Given the description of an element on the screen output the (x, y) to click on. 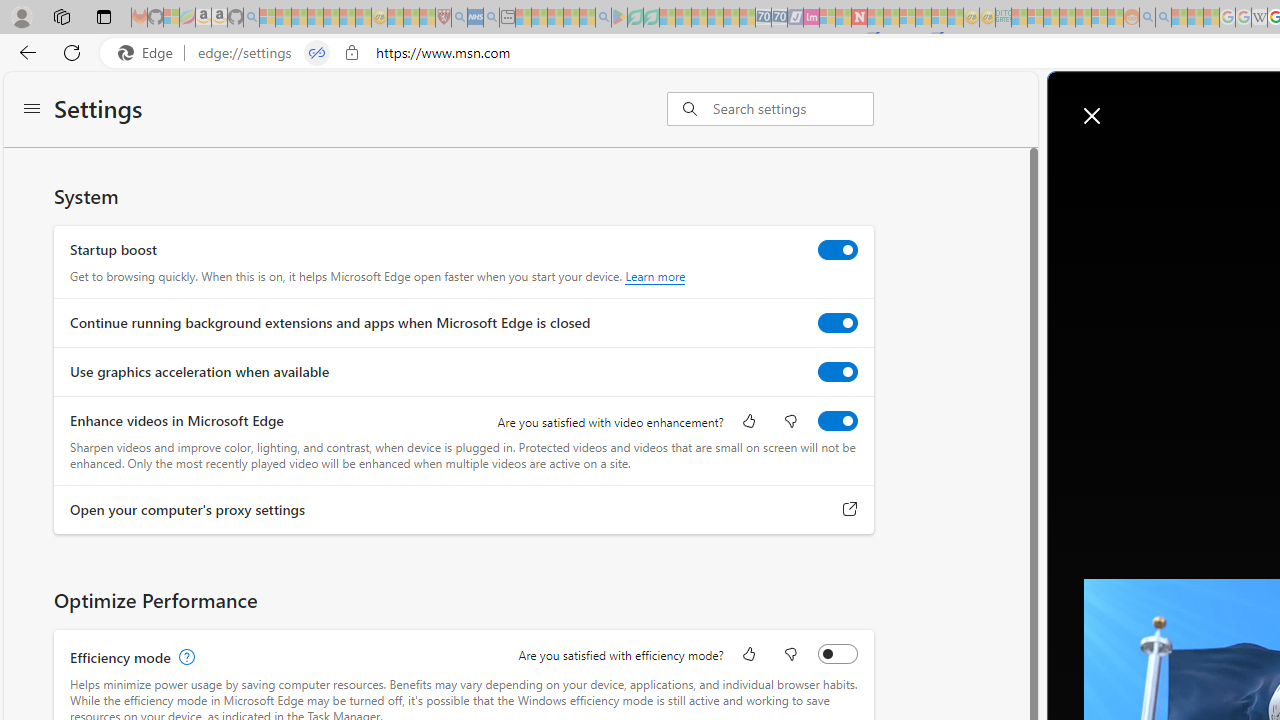
Startup boost (837, 249)
Search settings (791, 109)
Class: button-glyph (1132, 162)
Utah sues federal government - Search - Sleeping (1163, 17)
Target page - Wikipedia - Sleeping (1259, 17)
